Given the description of an element on the screen output the (x, y) to click on. 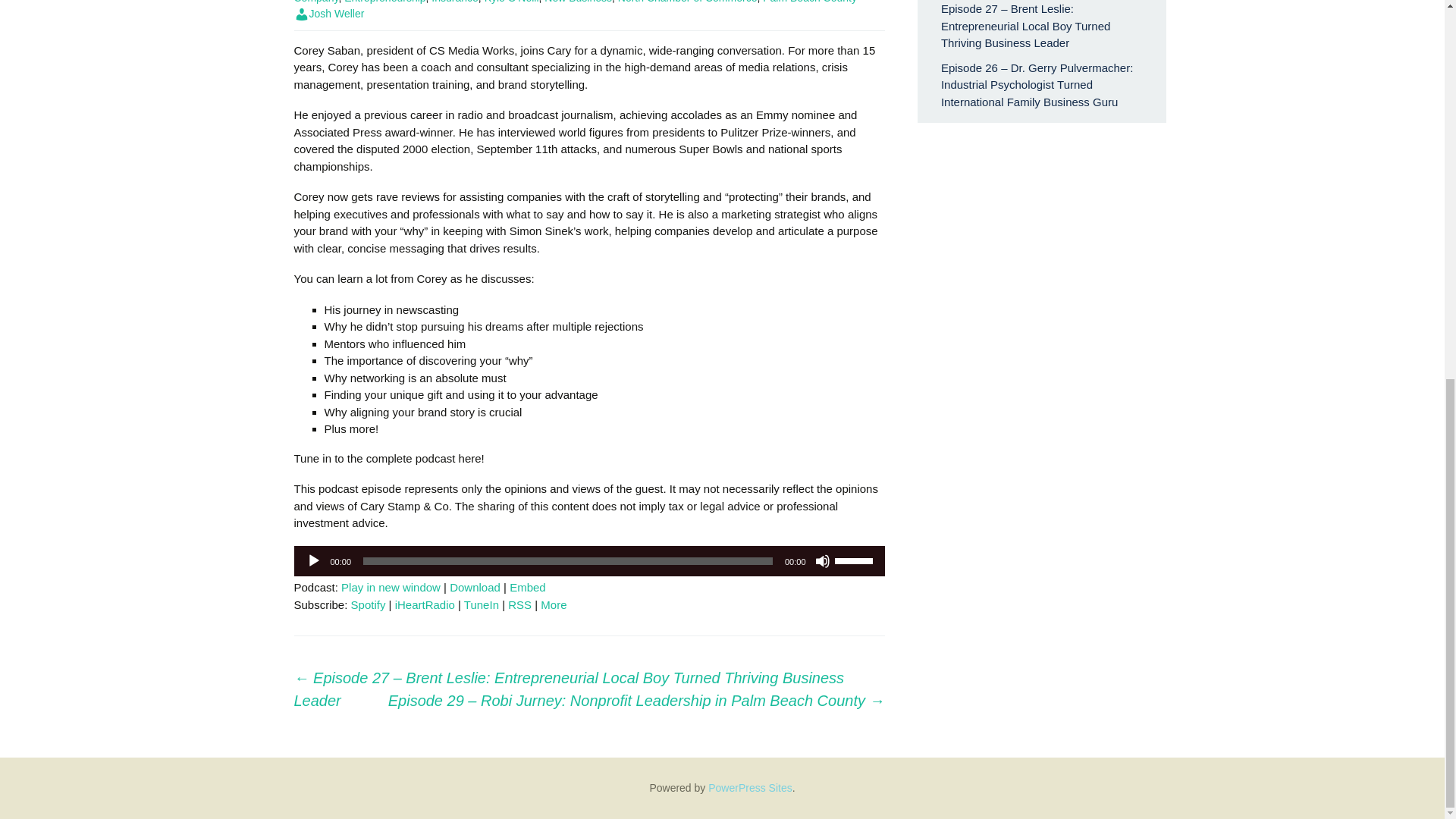
Subscribe on Spotify (367, 604)
Palm Beach County (809, 2)
Embed (527, 586)
Subscribe on iHeartRadio (424, 604)
Subscribe on TuneIn (481, 604)
Spotify (367, 604)
Play in new window (390, 586)
Play in new window (390, 586)
Download (474, 586)
RSS (519, 604)
iHeartRadio (424, 604)
Download (474, 586)
Insurance (453, 2)
Mute (821, 560)
North Chamber of Commerce (687, 2)
